Given the description of an element on the screen output the (x, y) to click on. 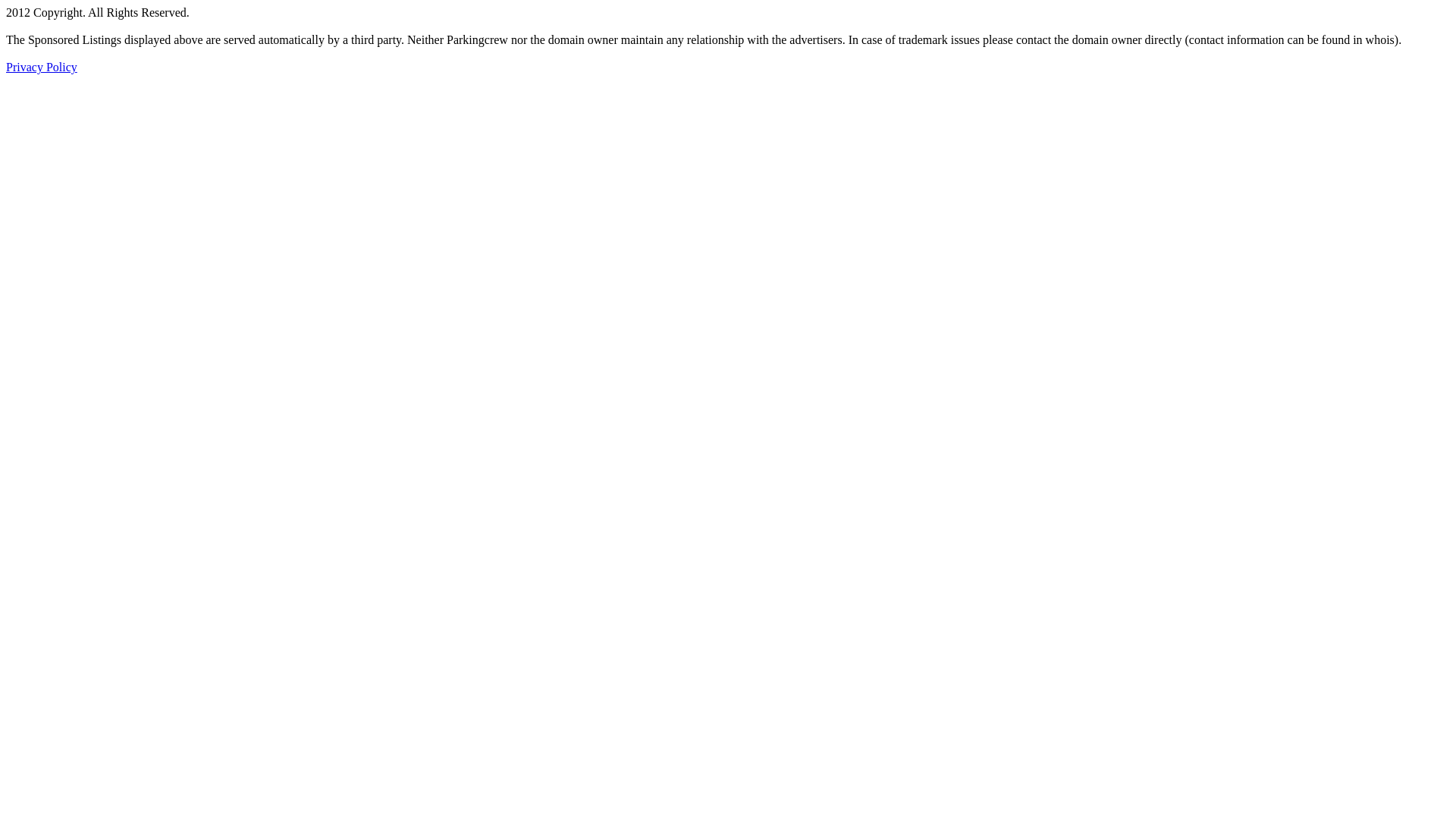
Privacy Policy Element type: text (41, 66)
